Given the description of an element on the screen output the (x, y) to click on. 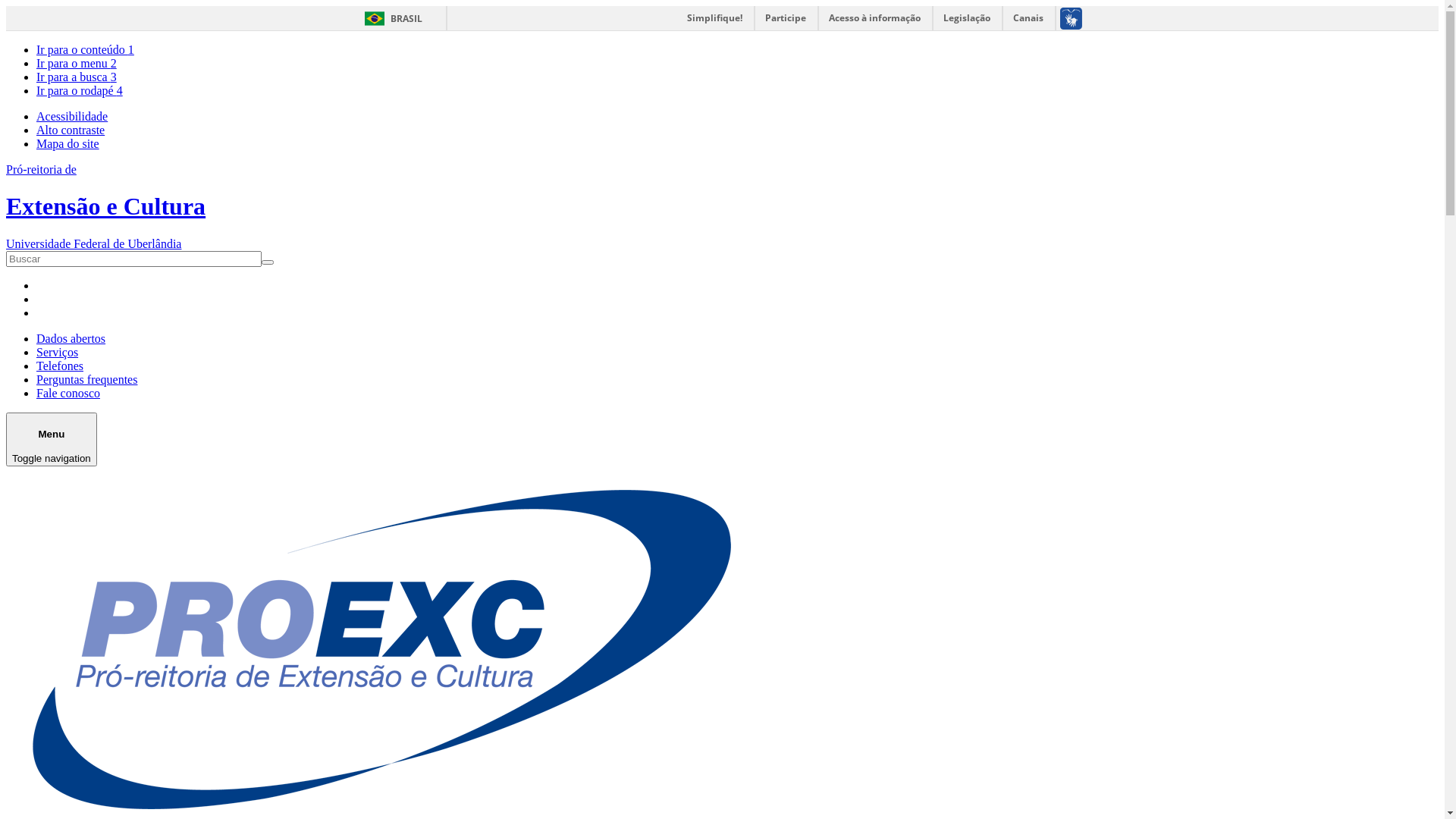
BRASIL Element type: text (389, 18)
Alto contraste Element type: text (70, 129)
Acessibilidade Element type: text (71, 115)
Participe Element type: text (786, 17)
Simplifique! Element type: text (714, 17)
Buscar Element type: text (27, 268)
Fale conosco Element type: text (68, 392)
Dados abertos Element type: text (70, 338)
Menu
Toggle navigation Element type: text (51, 439)
Telefones Element type: text (59, 365)
Ir para o menu 2 Element type: text (76, 62)
Canais Element type: text (1028, 17)
Mapa do site Element type: text (67, 143)
Perguntas frequentes Element type: text (86, 379)
Ir para a busca 3 Element type: text (76, 76)
